Given the description of an element on the screen output the (x, y) to click on. 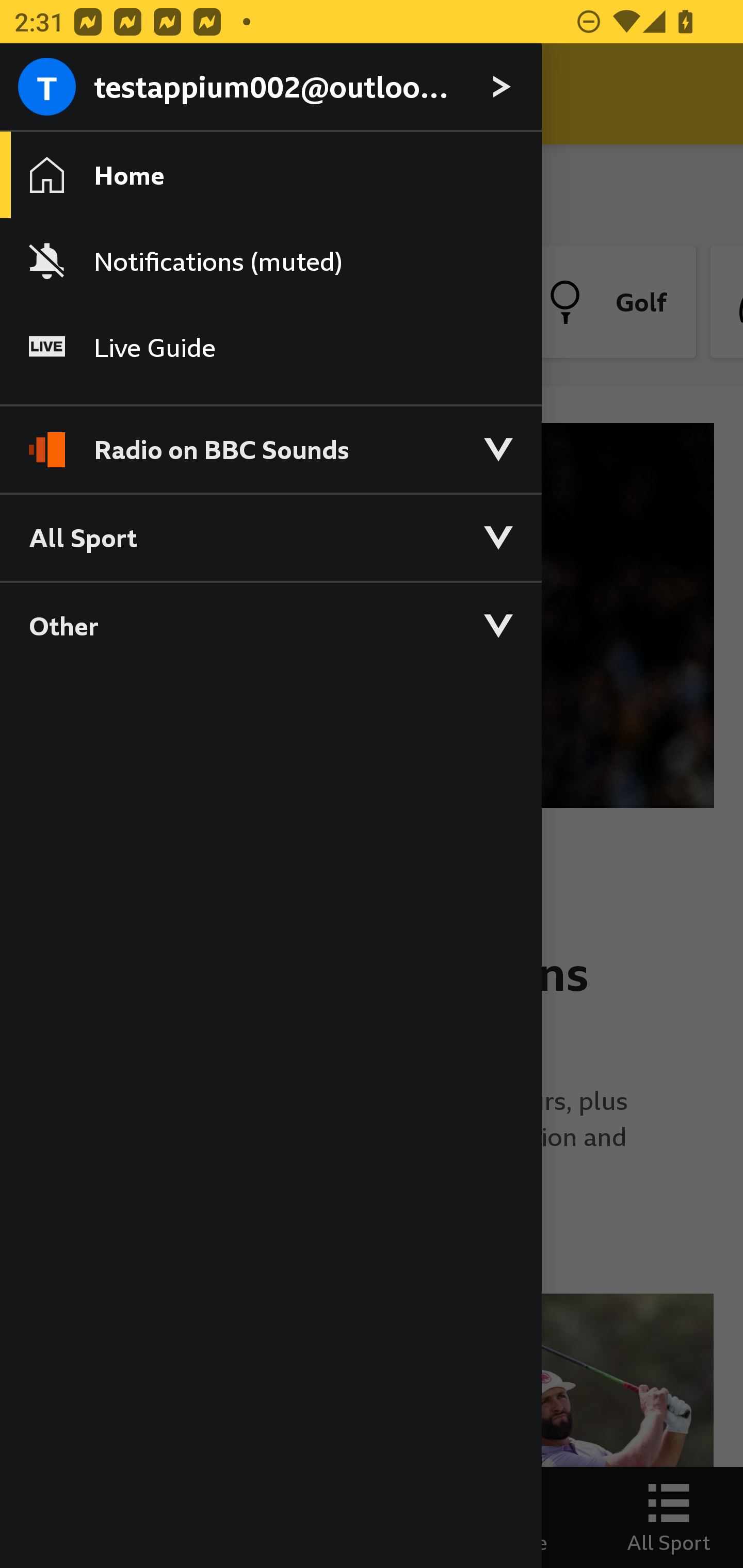
Close Menu (50, 93)
testappium002@outlook.com (270, 87)
Home (270, 174)
Notifications (muted) (270, 260)
Live Guide (270, 347)
Radio on BBC Sounds (270, 441)
All Sport (270, 536)
Other (270, 624)
